Given the description of an element on the screen output the (x, y) to click on. 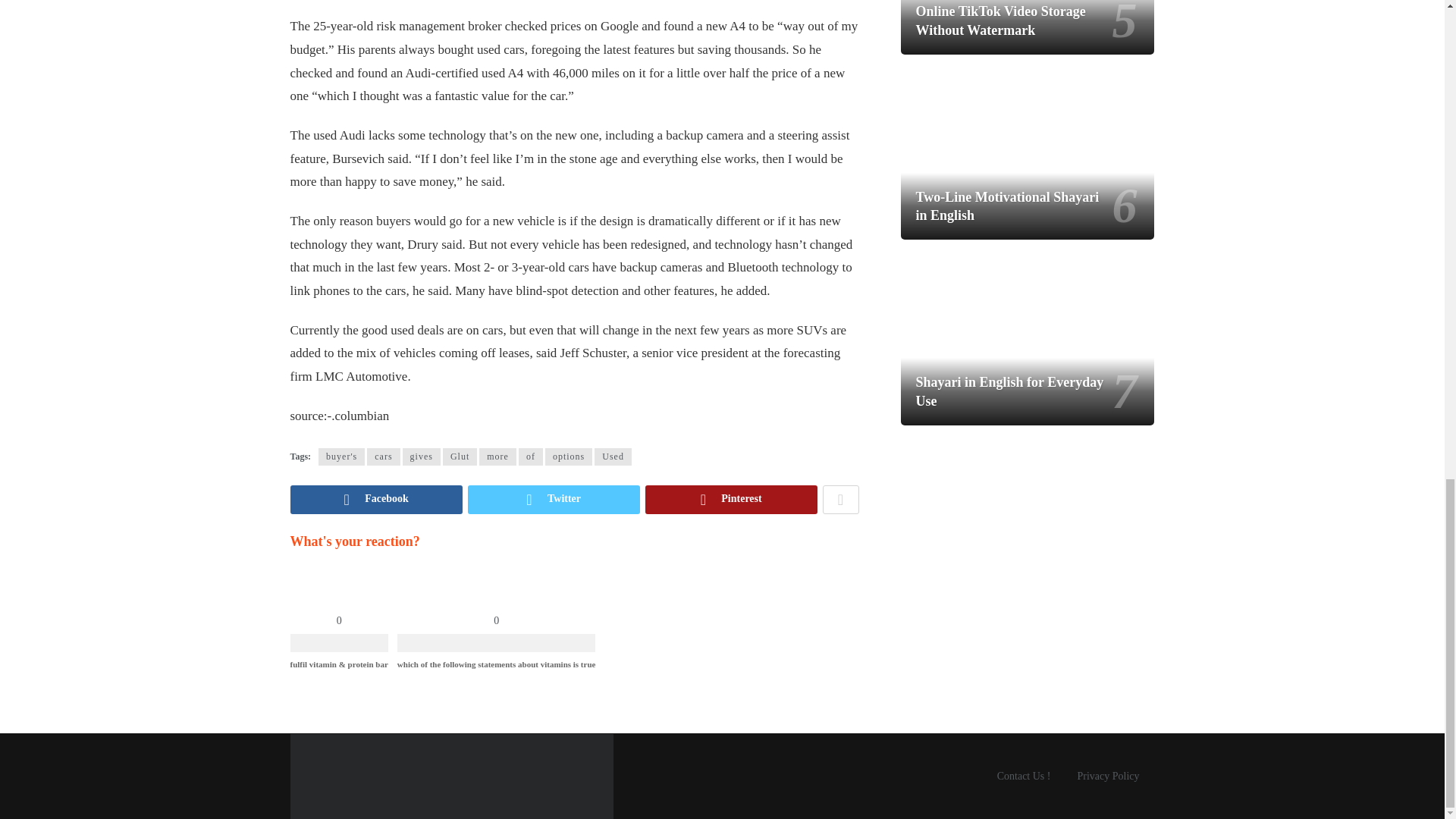
Shayari in English for Everyday Use (1027, 334)
cars (382, 456)
Online TikTok Video Storage Without Watermark (1000, 20)
gives (422, 456)
Online TikTok Video Storage Without Watermark (1027, 27)
Glut (459, 456)
Shayari in English for Everyday Use (1009, 390)
buyer's (341, 456)
Two-Line Motivational Shayari in English (1007, 205)
Two-Line Motivational Shayari in English (1027, 149)
